Given the description of an element on the screen output the (x, y) to click on. 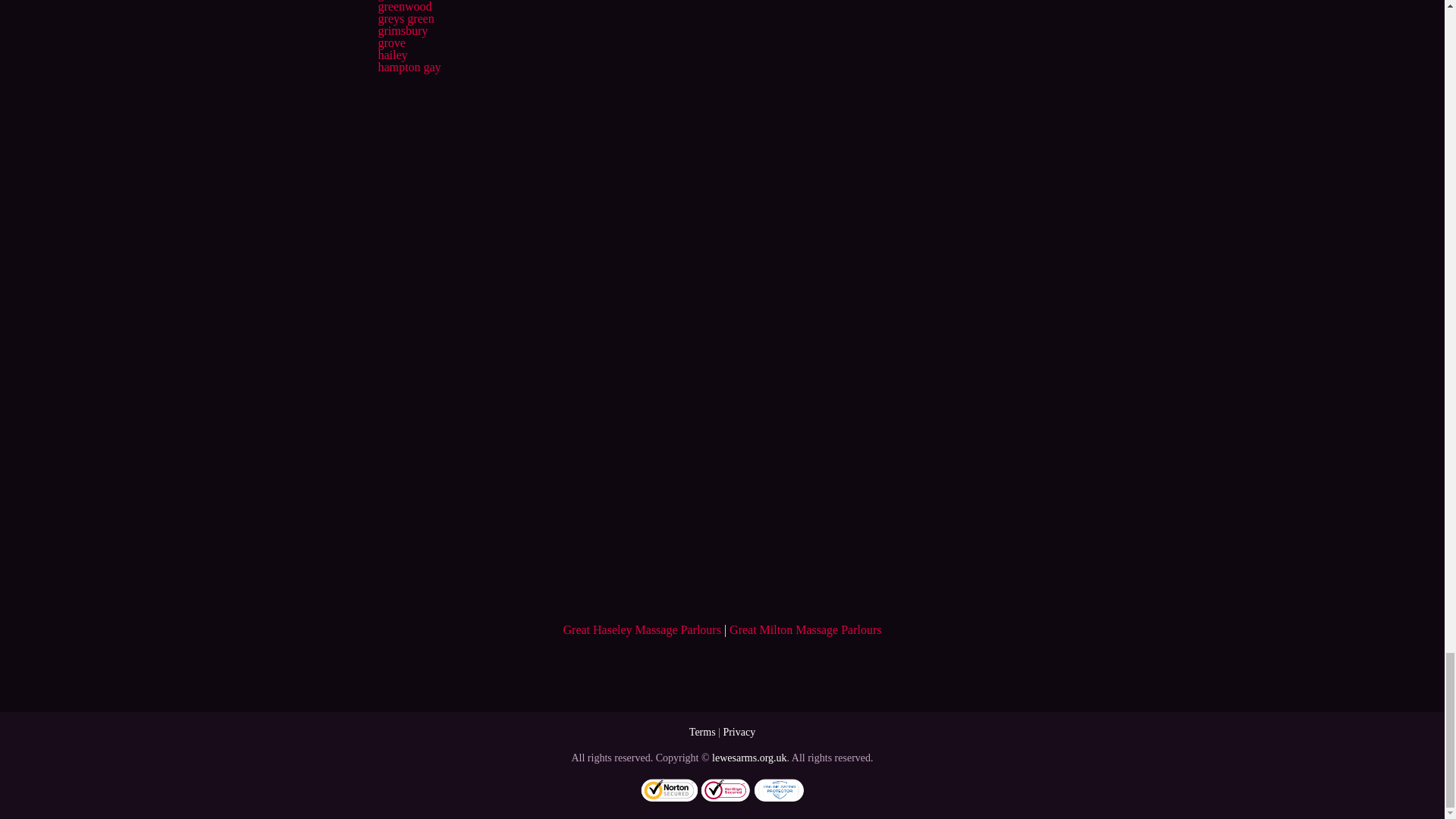
Terms (702, 731)
hailey (392, 54)
Privacy (738, 731)
greenend (399, 0)
lewesarms.org.uk (749, 757)
grove (390, 42)
Privacy (738, 731)
hampton gay (409, 66)
Terms (702, 731)
Great Milton Massage Parlours (804, 629)
